Given the description of an element on the screen output the (x, y) to click on. 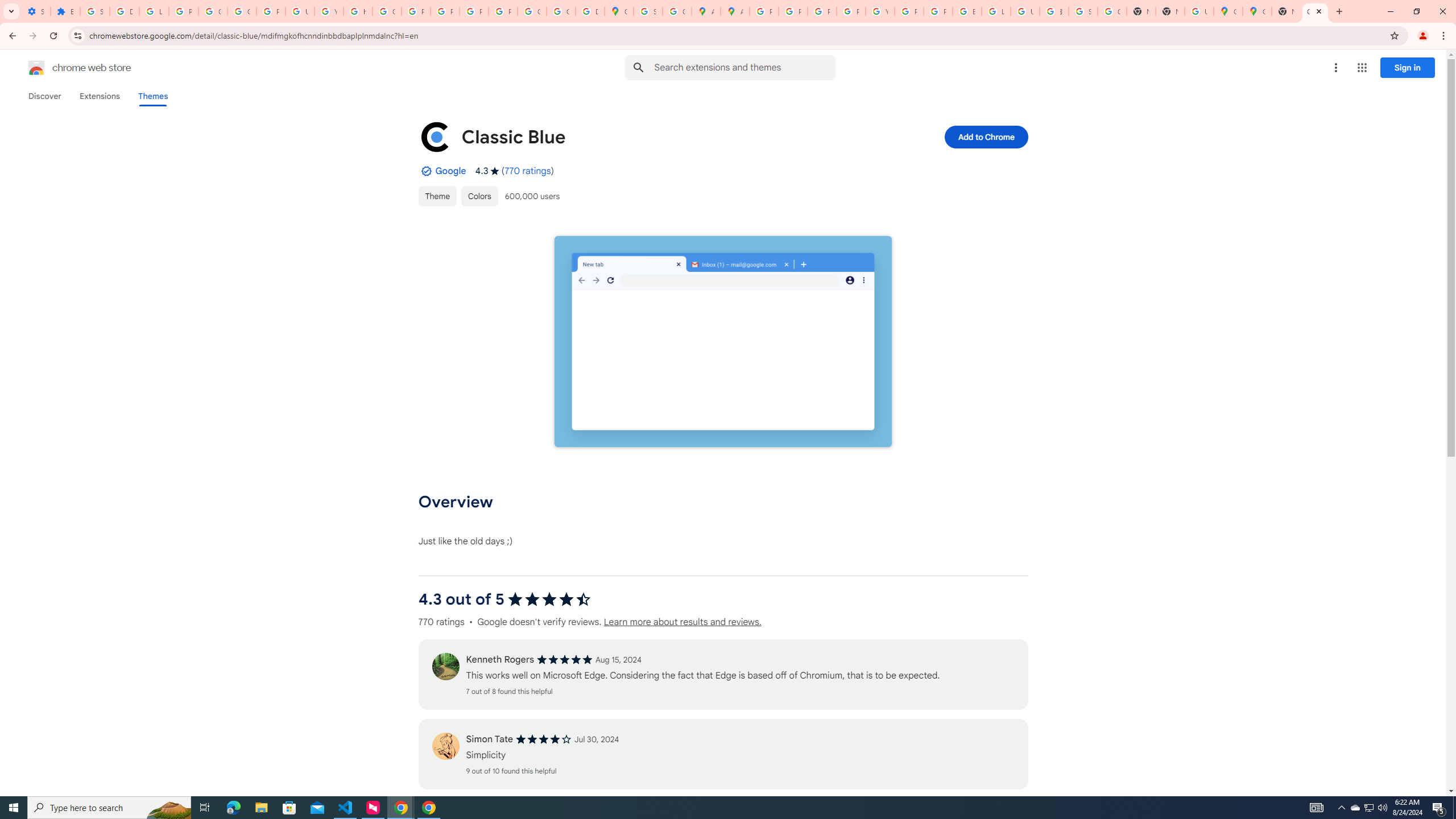
Policy Accountability and Transparency - Transparency Center (763, 11)
5 out of 5 stars (563, 659)
Chrome Web Store logo (36, 67)
Chrome Web Store logo chrome web store (67, 67)
Item media 1 screenshot (722, 341)
